Given the description of an element on the screen output the (x, y) to click on. 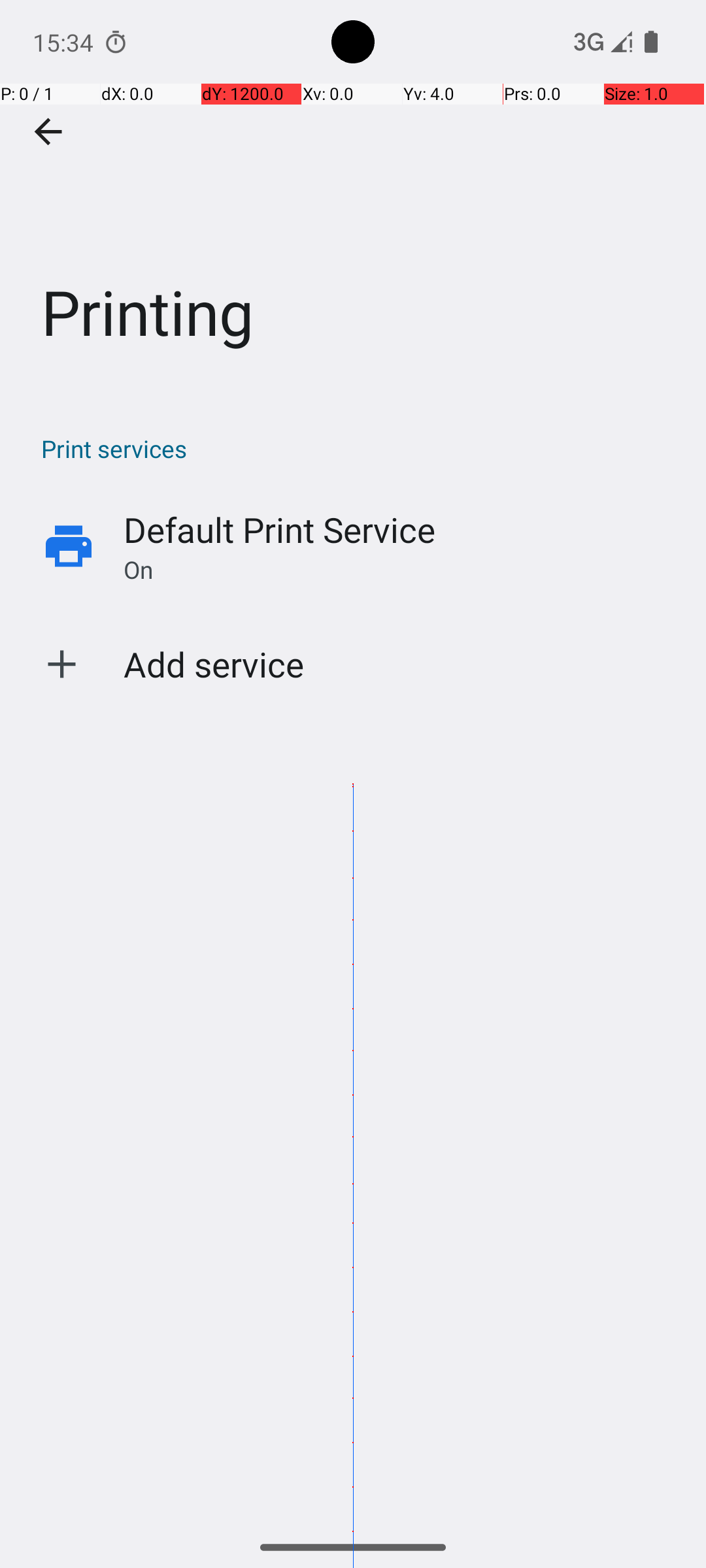
Printing Element type: android.widget.FrameLayout (353, 195)
Print services Element type: android.widget.TextView (359, 448)
Default Print Service Element type: android.widget.TextView (279, 529)
Add service Element type: android.widget.TextView (213, 663)
